Given the description of an element on the screen output the (x, y) to click on. 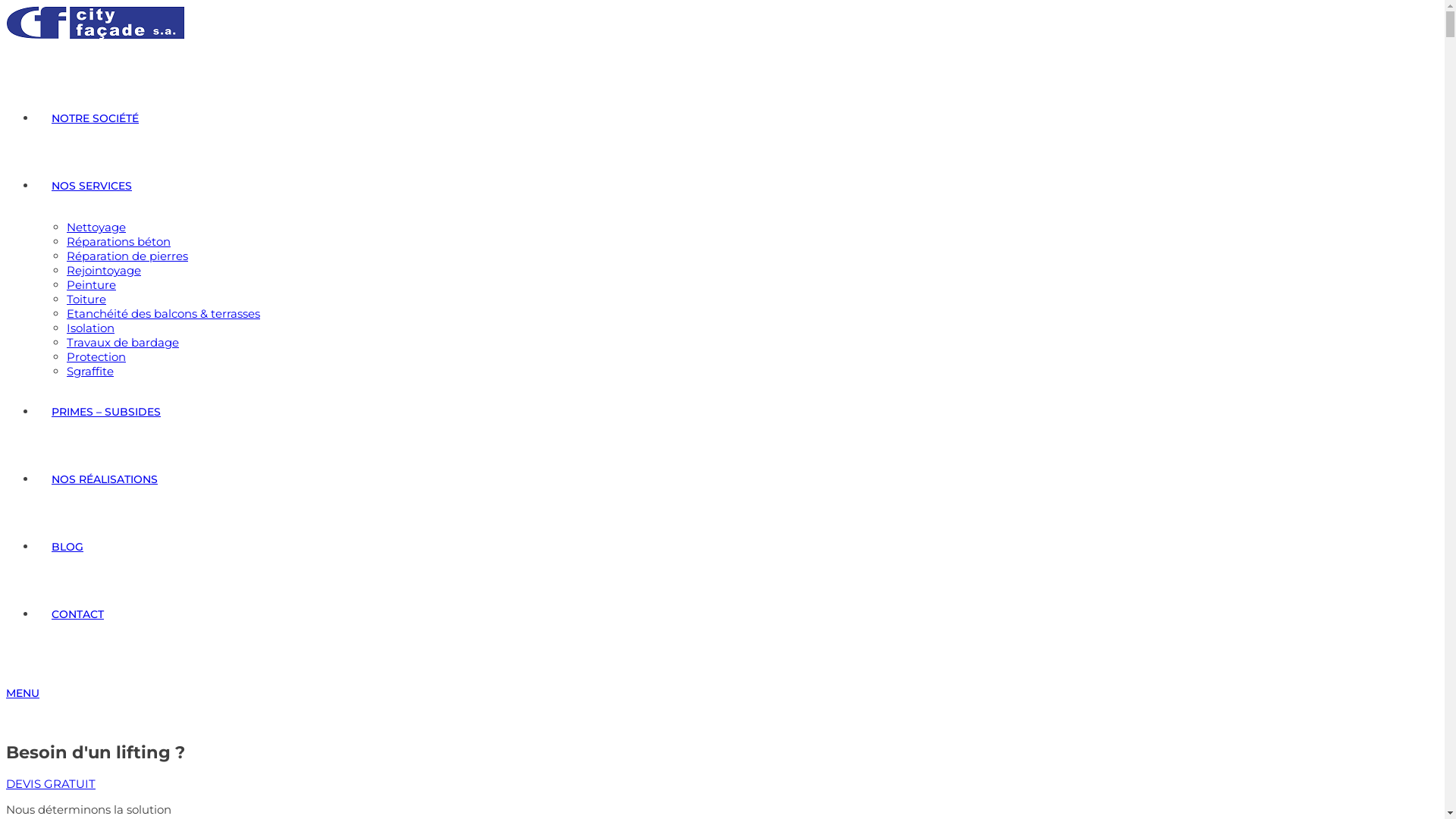
Isolation Element type: text (90, 327)
Nettoyage Element type: text (95, 226)
Sgraffite Element type: text (89, 371)
BLOG Element type: text (67, 546)
Rejointoyage Element type: text (103, 270)
DEVIS GRATUIT Element type: text (50, 783)
NOS SERVICES Element type: text (91, 185)
CONTACT Element type: text (77, 614)
Travaux de bardage Element type: text (122, 342)
Toiture Element type: text (86, 298)
Protection Element type: text (95, 356)
MENU Element type: text (22, 692)
Peinture Element type: text (91, 284)
